Given the description of an element on the screen output the (x, y) to click on. 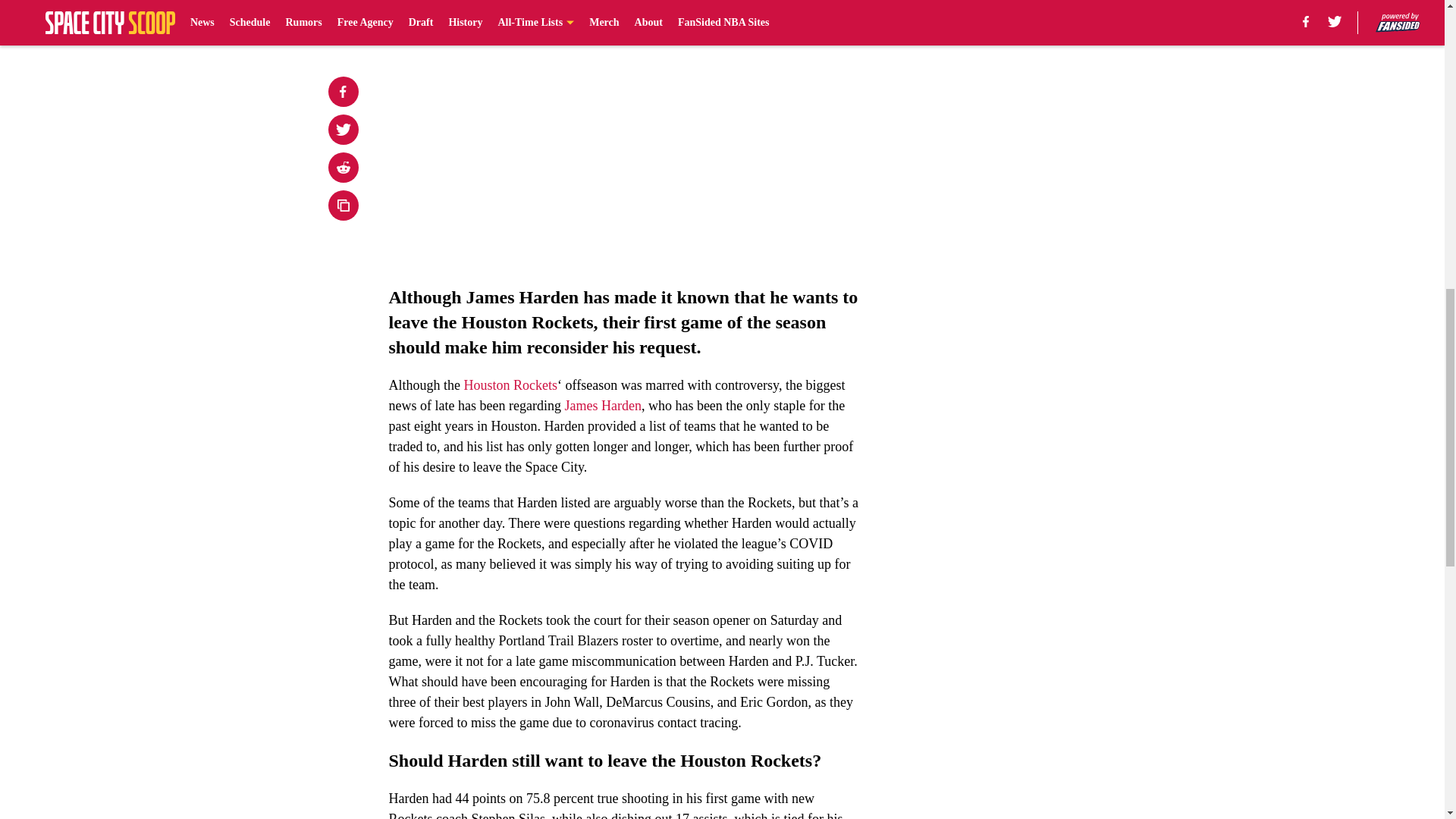
Houston Rockets (510, 385)
James Harden (602, 405)
